Given the description of an element on the screen output the (x, y) to click on. 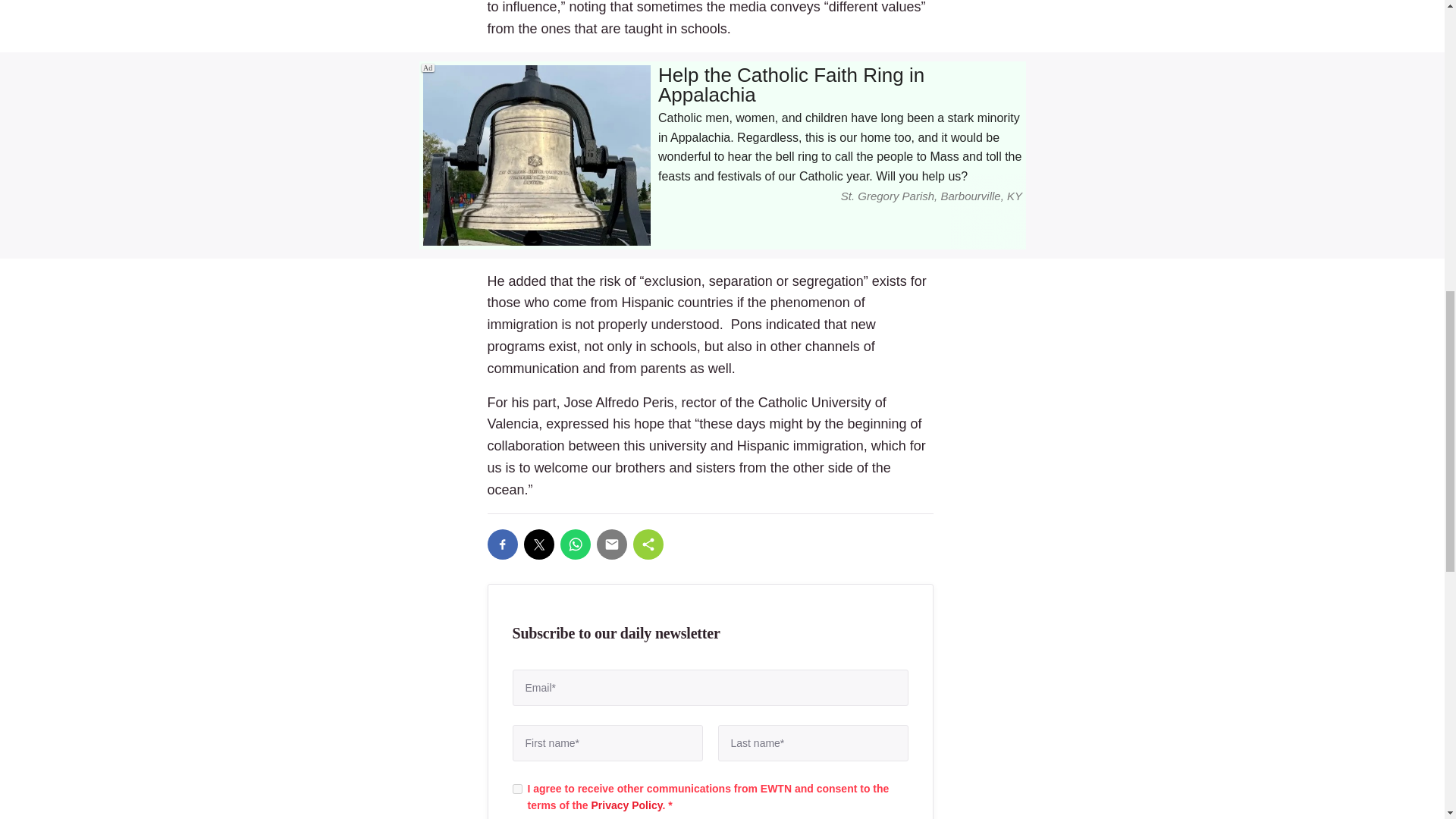
true (517, 788)
3rd party ad content (722, 155)
